Given the description of an element on the screen output the (x, y) to click on. 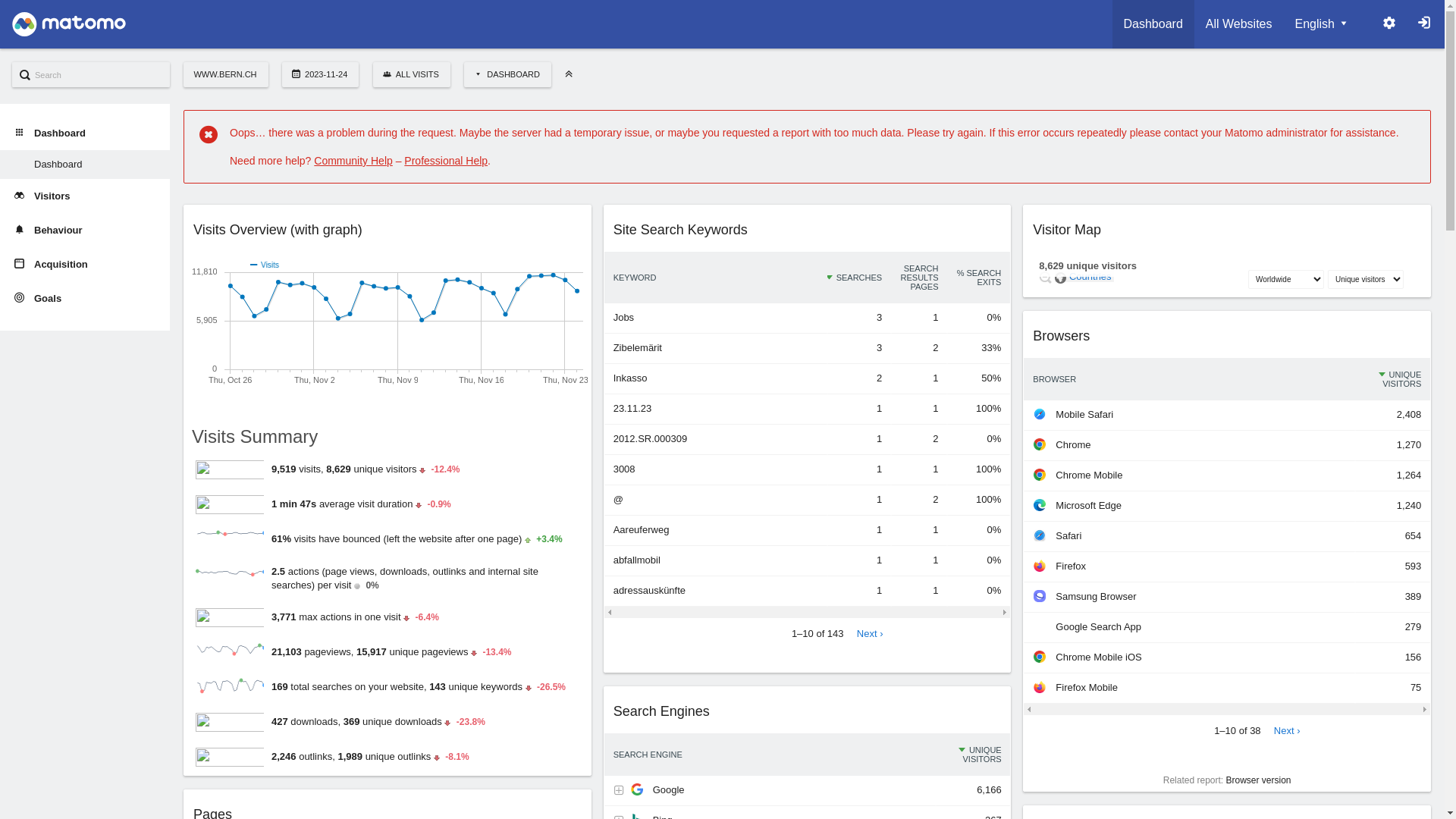
Enter Zen mode (hide the menus) Element type: hover (568, 73)
Samsung Browser Element type: hover (1039, 595)
Acquisition Element type: text (84, 264)
Firefox Mobile Element type: hover (1039, 686)
ALL VISITS Element type: text (411, 74)
WWW.BERN.CH Element type: text (225, 74)
2023-11-24 Element type: text (320, 74)
Community Help Element type: text (352, 160)
Matomo # free/libre analytics platform Element type: hover (68, 27)
Safari Element type: hover (1039, 535)
Mobile Safari Element type: hover (1039, 413)
Google Element type: hover (636, 789)
Chrome Element type: hover (1039, 444)
Visitors Element type: text (84, 195)
Dashboard Element type: text (1152, 24)
Firefox Element type: hover (1039, 565)
Dashboard Element type: text (84, 133)
DASHBOARD Element type: text (507, 74)
Chrome Mobile Element type: hover (1039, 474)
Dashboard Element type: text (84, 164)
Administration Element type: hover (1388, 24)
Goals Element type: text (84, 298)
Zoom to world Element type: hover (1044, 276)
Show visitors per region/country Element type: hover (1060, 277)
Professional Help Element type: text (445, 160)
Chrome Mobile iOS Element type: hover (1039, 656)
Sign in Element type: hover (1423, 24)
All Websites Element type: text (1238, 24)
Microsoft Edge Element type: hover (1039, 504)
Google Search App Element type: hover (1039, 626)
Behaviour Element type: text (84, 230)
